Given the description of an element on the screen output the (x, y) to click on. 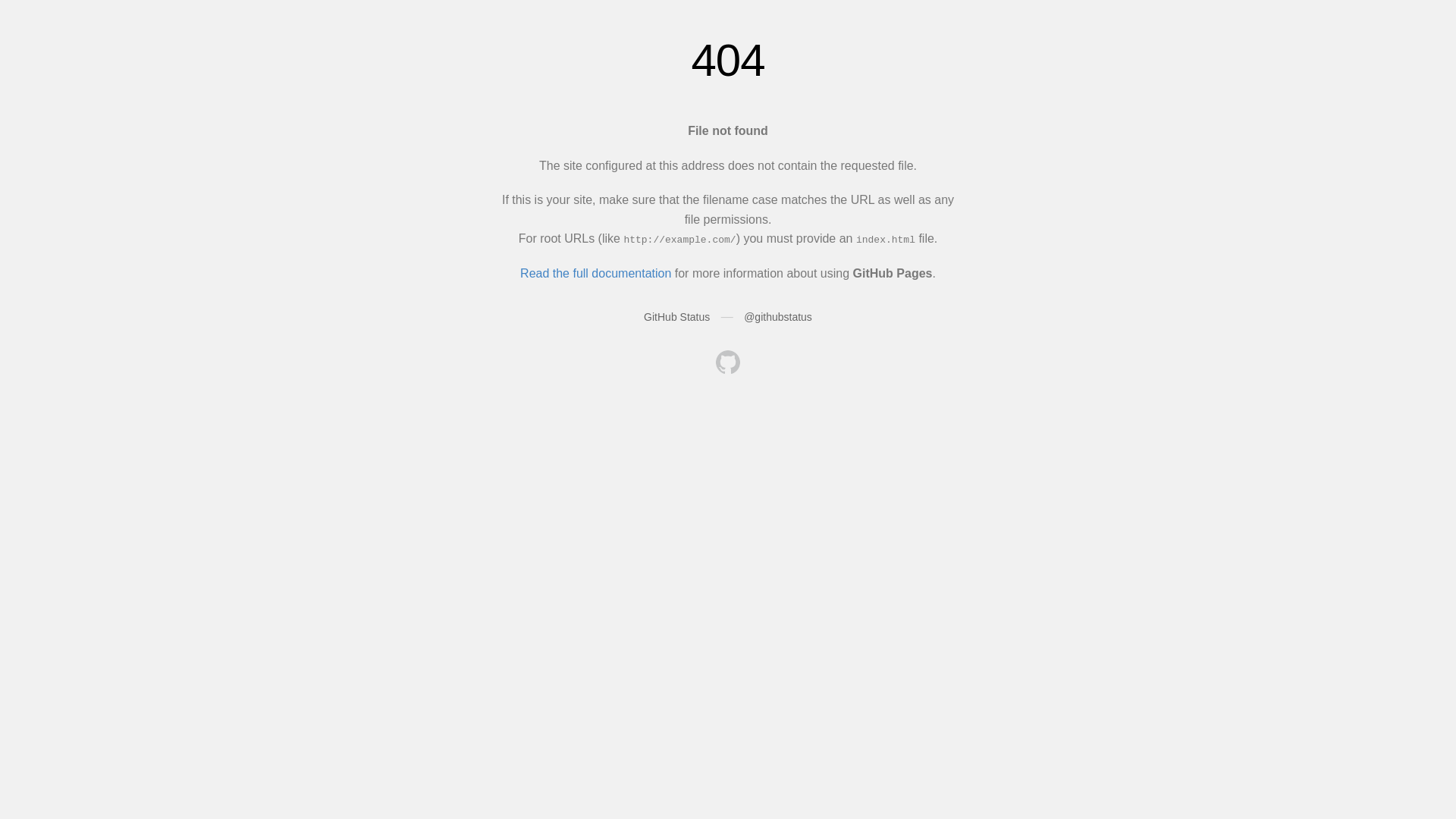
Read the full documentation Element type: text (595, 272)
GitHub Status Element type: text (676, 316)
@githubstatus Element type: text (777, 316)
